Given the description of an element on the screen output the (x, y) to click on. 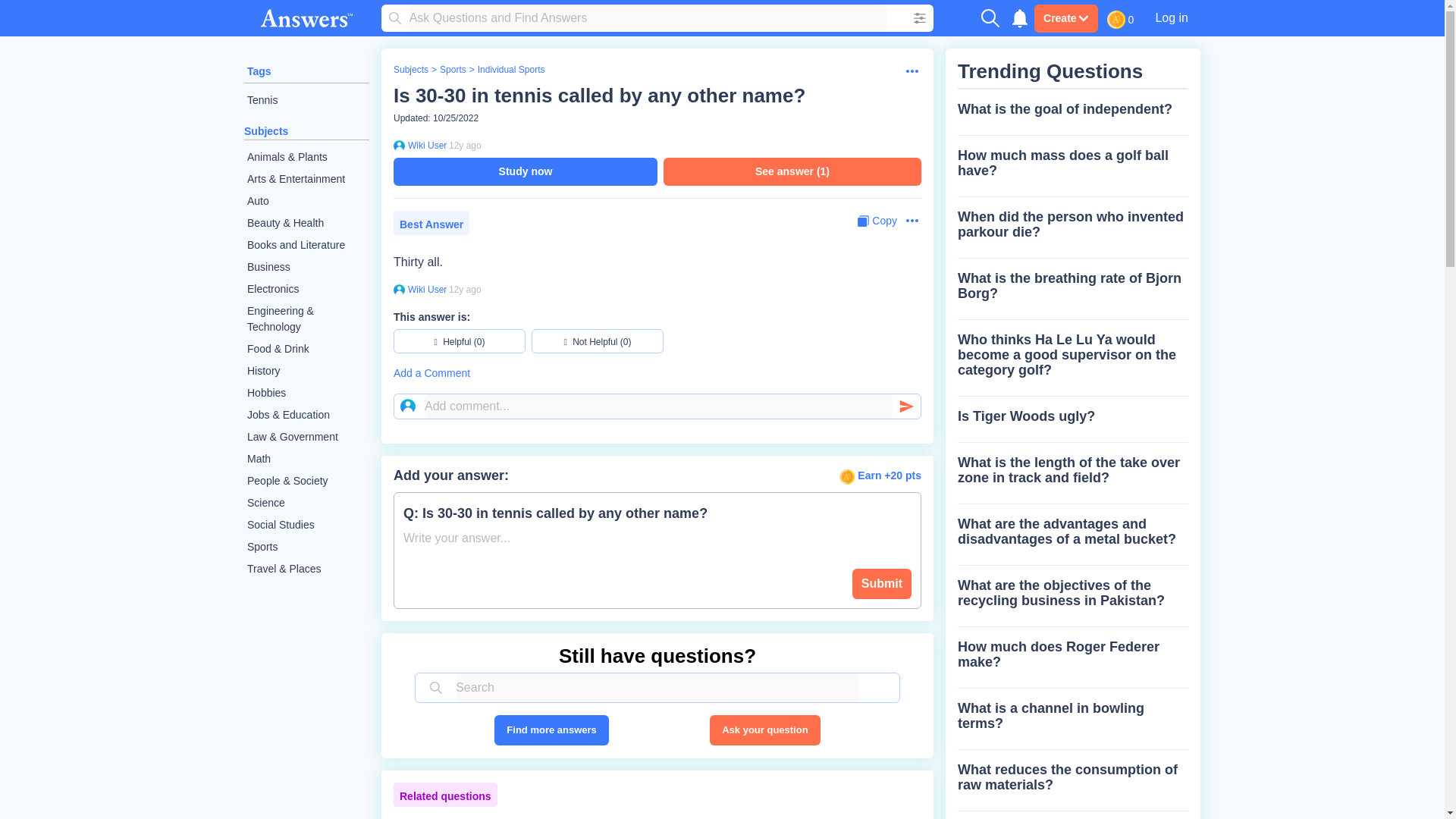
Wiki User (425, 289)
Wiki User (425, 145)
Subjects (410, 69)
Tennis (306, 100)
Math (306, 458)
Hobbies (306, 393)
Tags (258, 70)
Log in (1170, 17)
History (306, 371)
Books and Literature (306, 245)
